Given the description of an element on the screen output the (x, y) to click on. 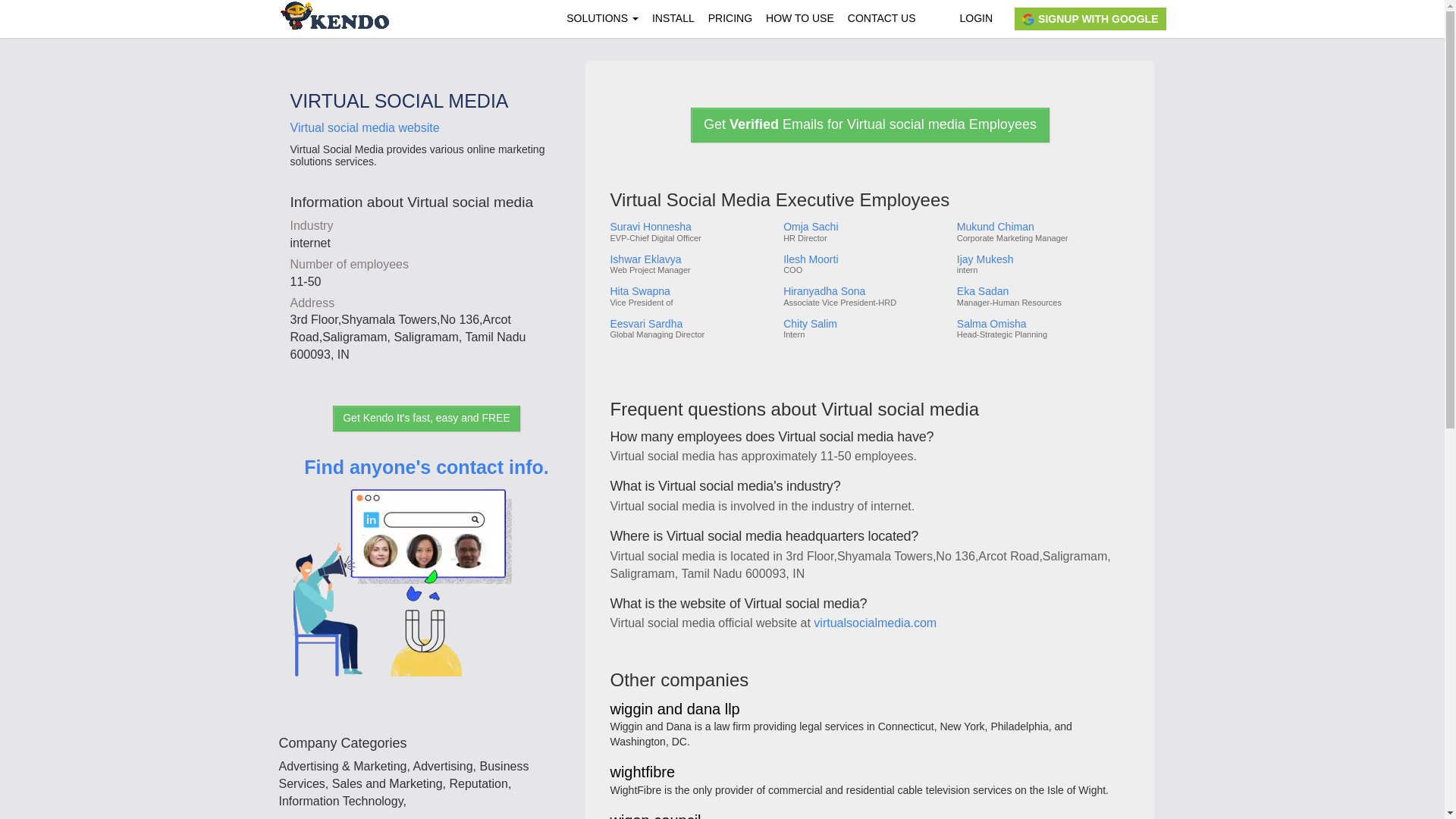
Find anyone's contact info. (425, 588)
Ishwar Eklavya (690, 259)
wightfibre (642, 772)
Salma Omisha (1041, 324)
LOGIN (975, 18)
Hita Swapna (690, 291)
virtualsocialmedia.com (874, 622)
HOW TO USE (799, 18)
wiggin and dana llp (674, 709)
SIGNUP WITH GOOGLE (1090, 18)
PRICING (729, 18)
Hiranyadha Sona (863, 291)
Eesvari Sardha (690, 324)
Omja Sachi (863, 226)
Get Verified Emails for Virtual social media Employees (869, 124)
